Given the description of an element on the screen output the (x, y) to click on. 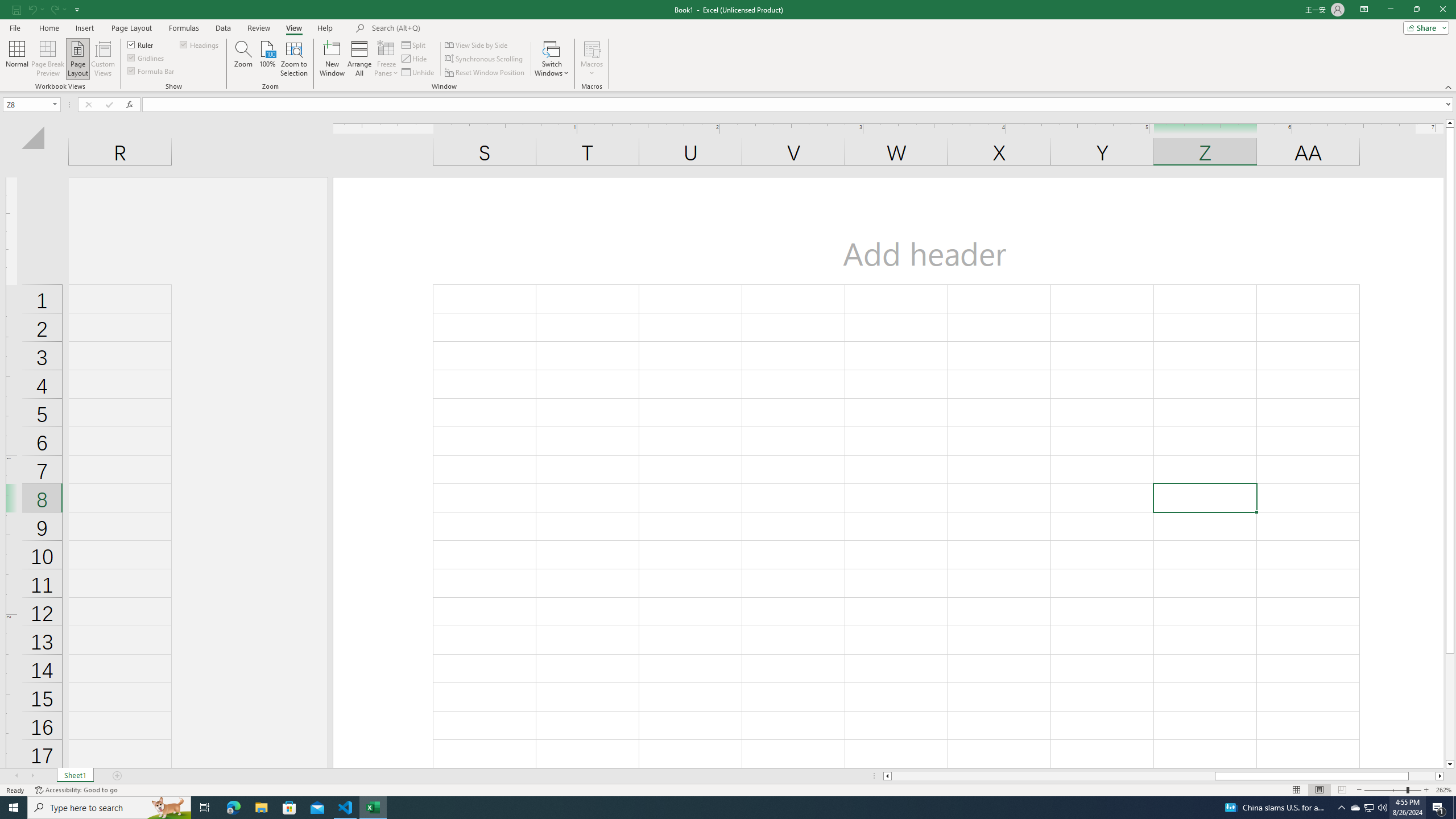
View Side by Side (476, 44)
Gridlines (146, 56)
